Given the description of an element on the screen output the (x, y) to click on. 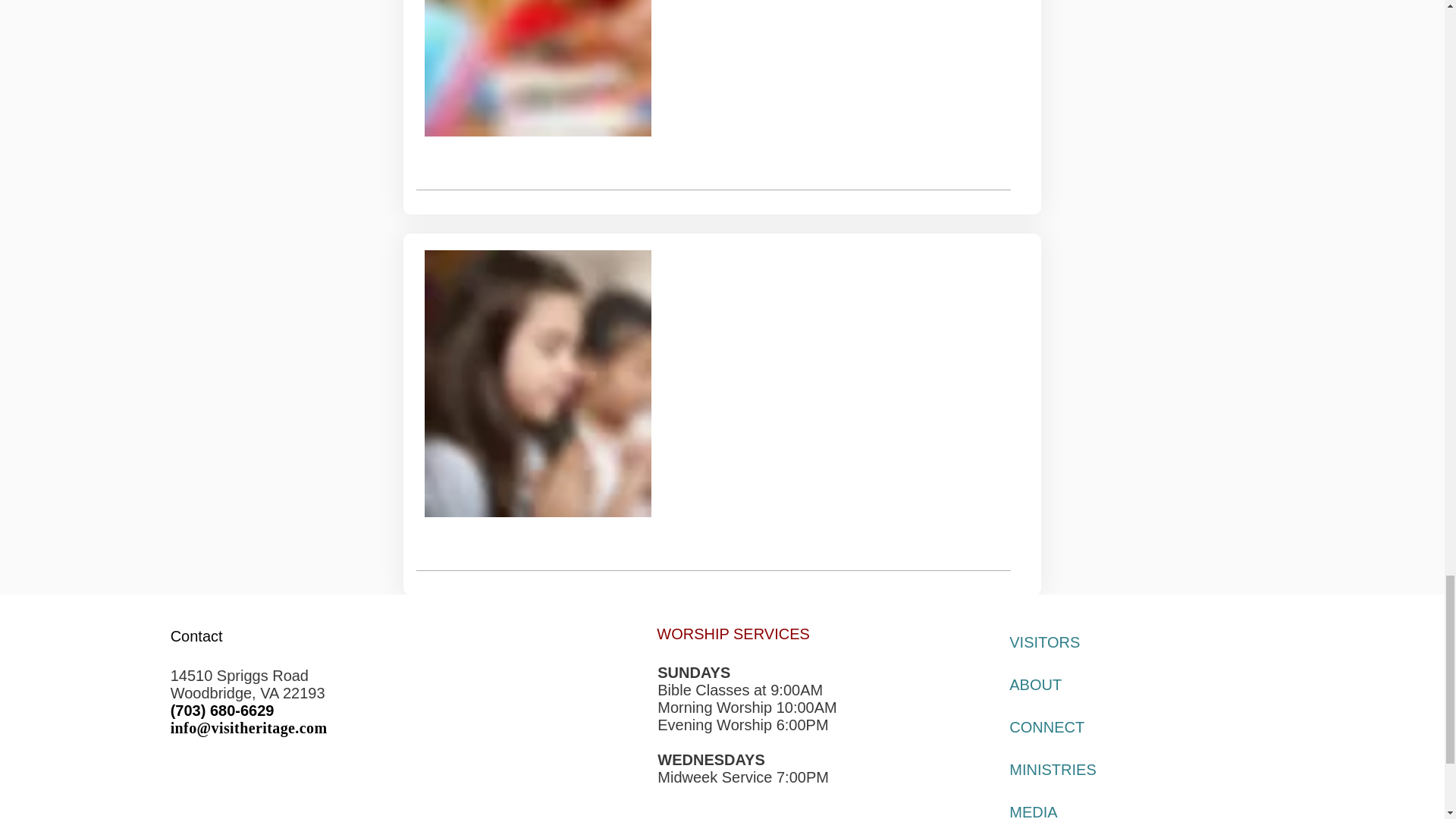
Woodbridge, VA 22193 (247, 692)
